Given the description of an element on the screen output the (x, y) to click on. 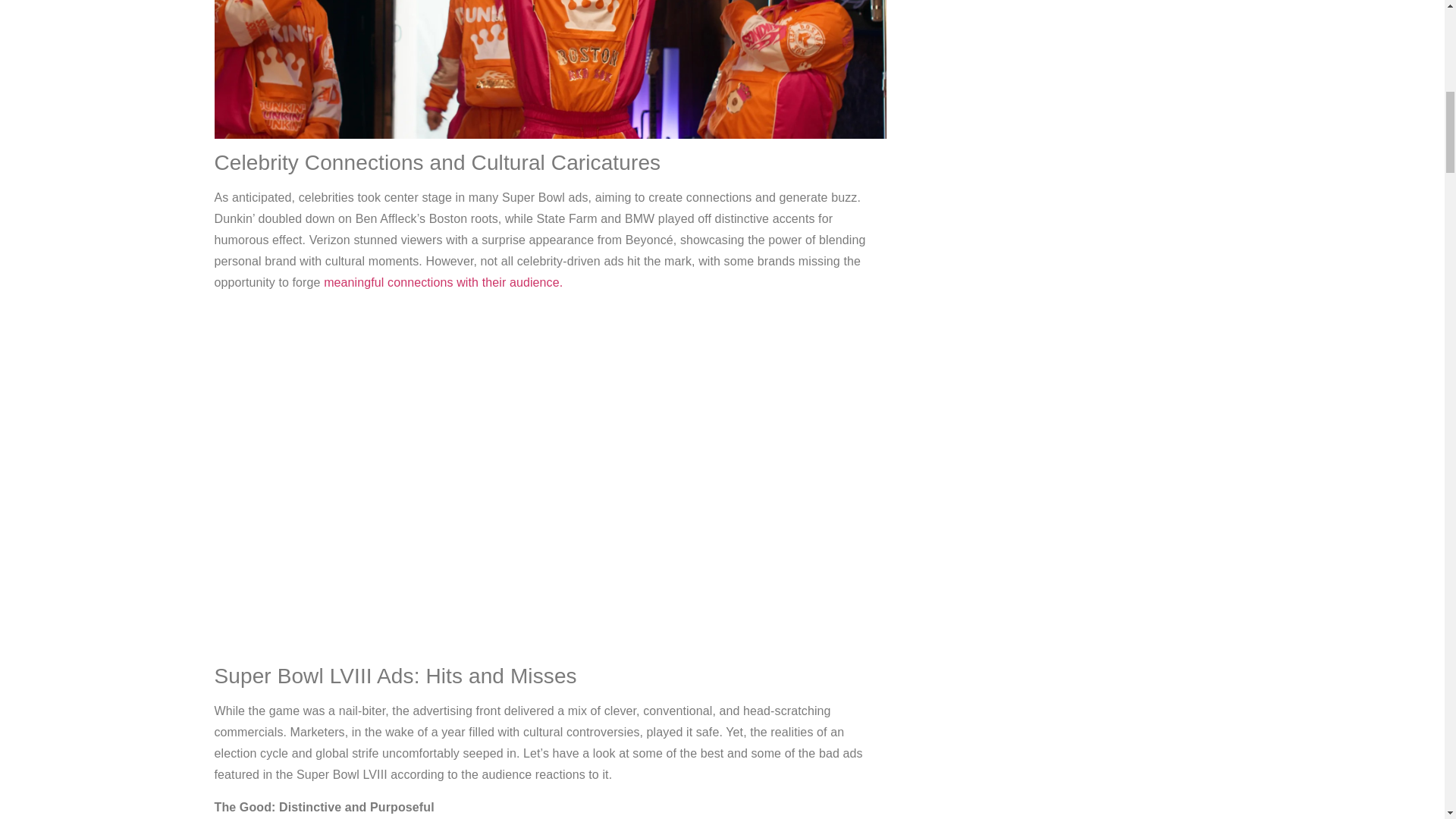
meaningful connections with their audience. (442, 282)
